Given the description of an element on the screen output the (x, y) to click on. 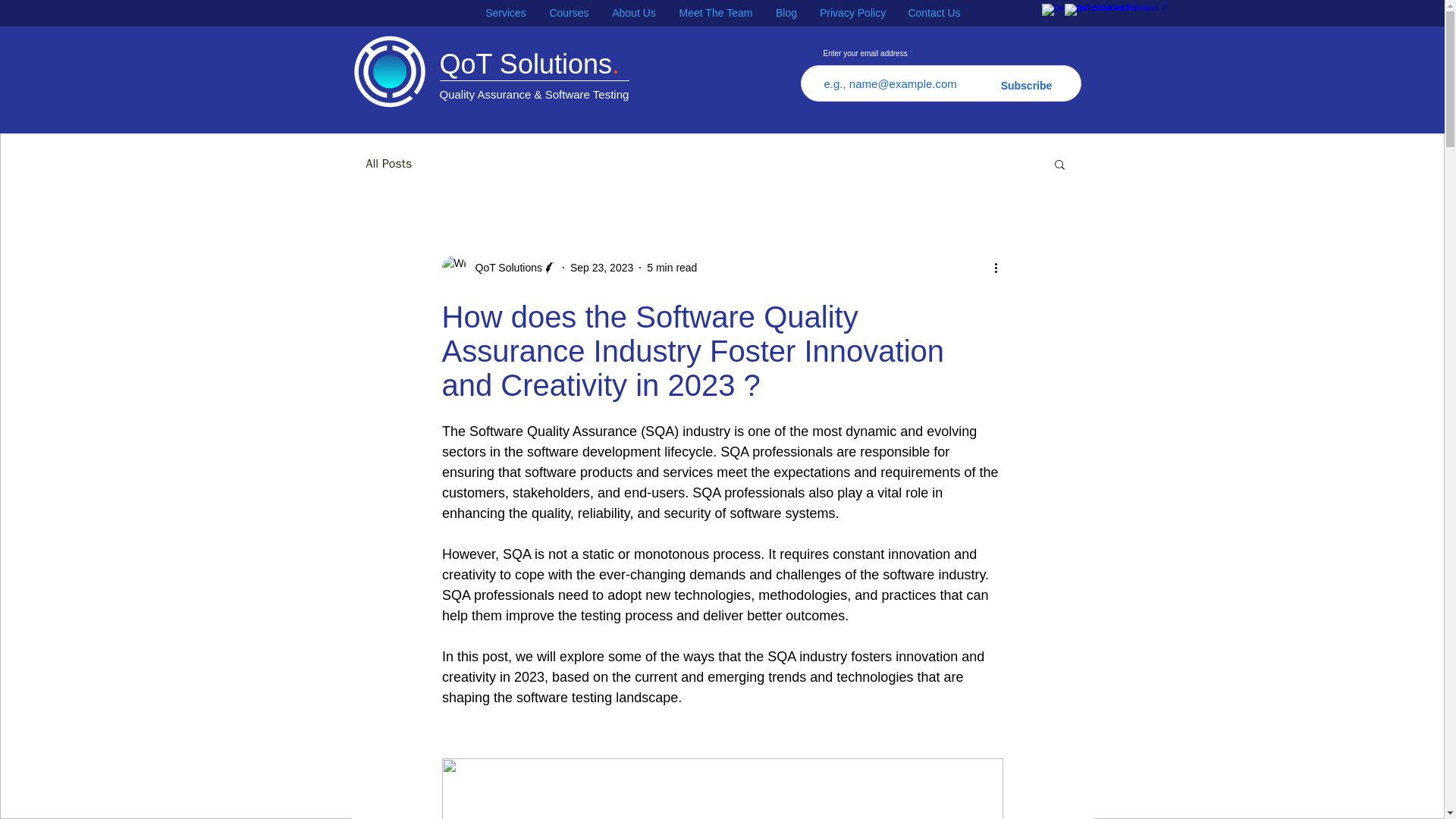
About Us (632, 13)
Meet The Team (715, 13)
Contact Us (934, 13)
5 min read (671, 266)
Sep 23, 2023 (601, 266)
QoT Solutions (498, 267)
All Posts (388, 163)
Privacy Policy (852, 13)
Services (505, 13)
Subscribe (1026, 85)
QoT Solutions  (503, 267)
Courses (568, 13)
QoT Solutions. (529, 64)
Blog (786, 13)
